Given the description of an element on the screen output the (x, y) to click on. 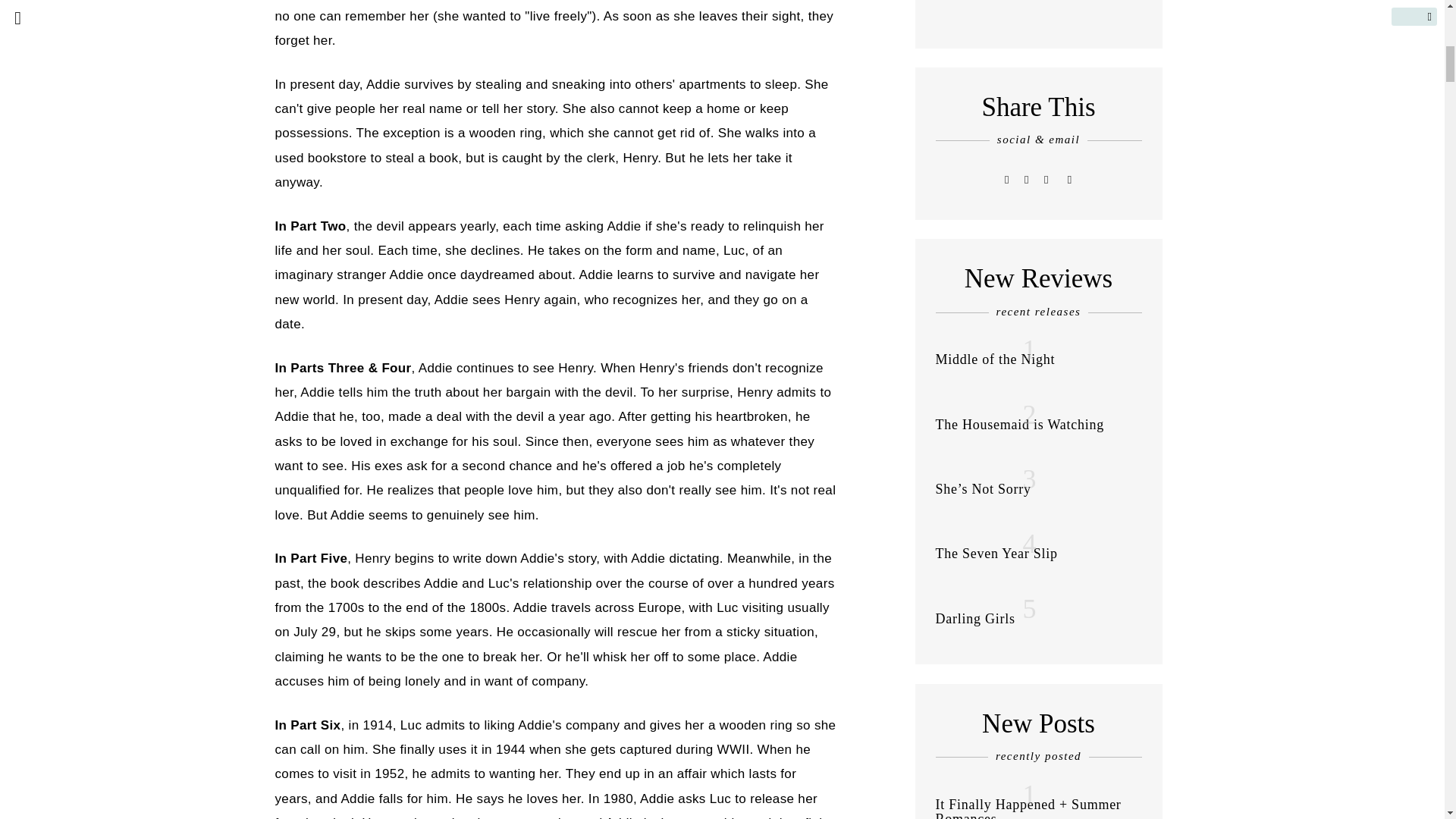
Darling Girls (975, 618)
The Housemaid is Watching (1019, 424)
Tweet This (1006, 178)
Middle of the Night (995, 359)
The Seven Year Slip (997, 553)
